Given the description of an element on the screen output the (x, y) to click on. 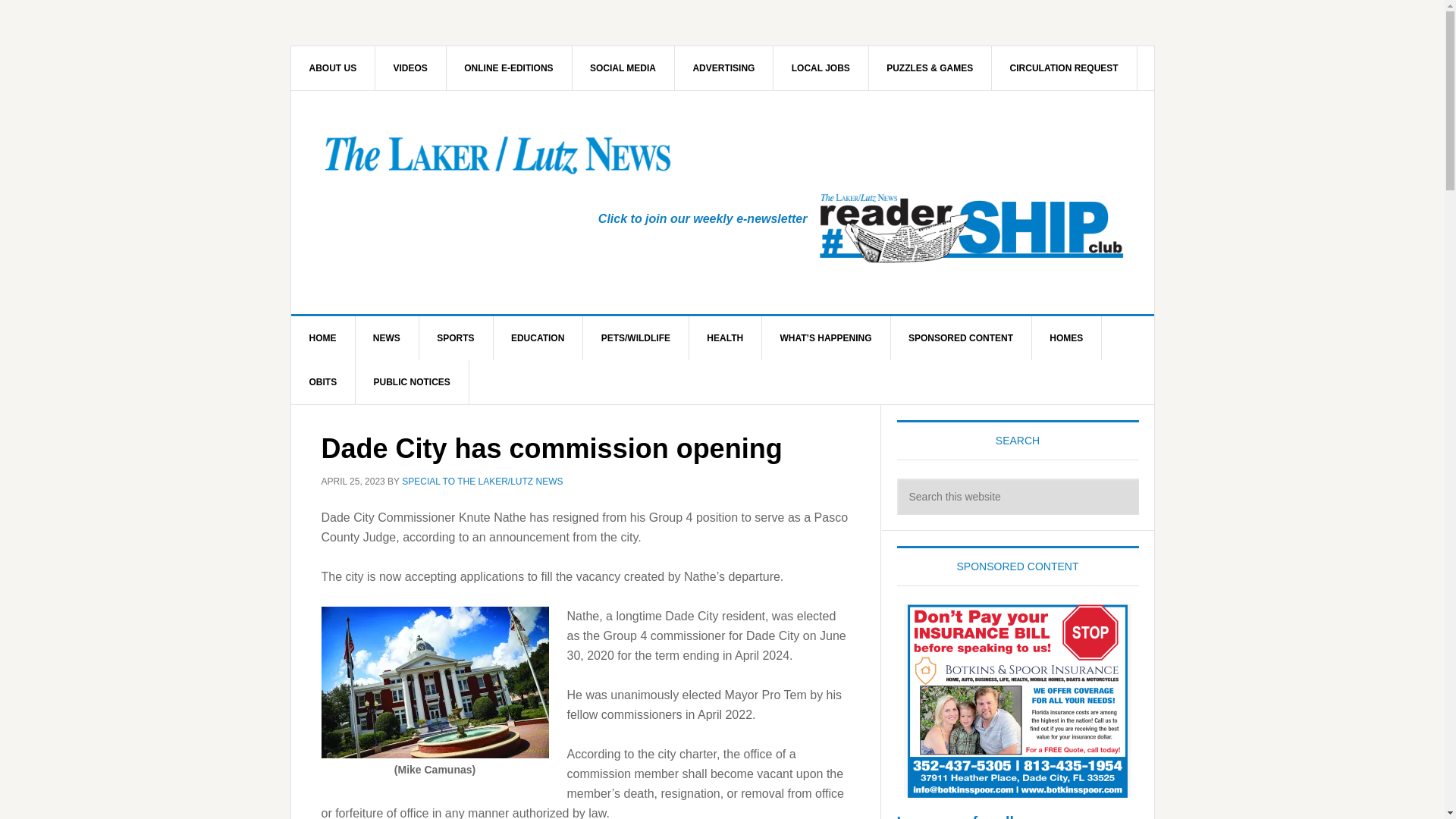
ABOUT US (333, 67)
NEWS (387, 338)
LOCAL JOBS (821, 67)
CIRCULATION REQUEST (1064, 67)
ONLINE E-EDITIONS (508, 67)
SOCIAL MEDIA (623, 67)
HOME (323, 338)
Click to join our weekly e-newsletter (703, 218)
ADVERTISING (723, 67)
VIDEOS (410, 67)
